Given the description of an element on the screen output the (x, y) to click on. 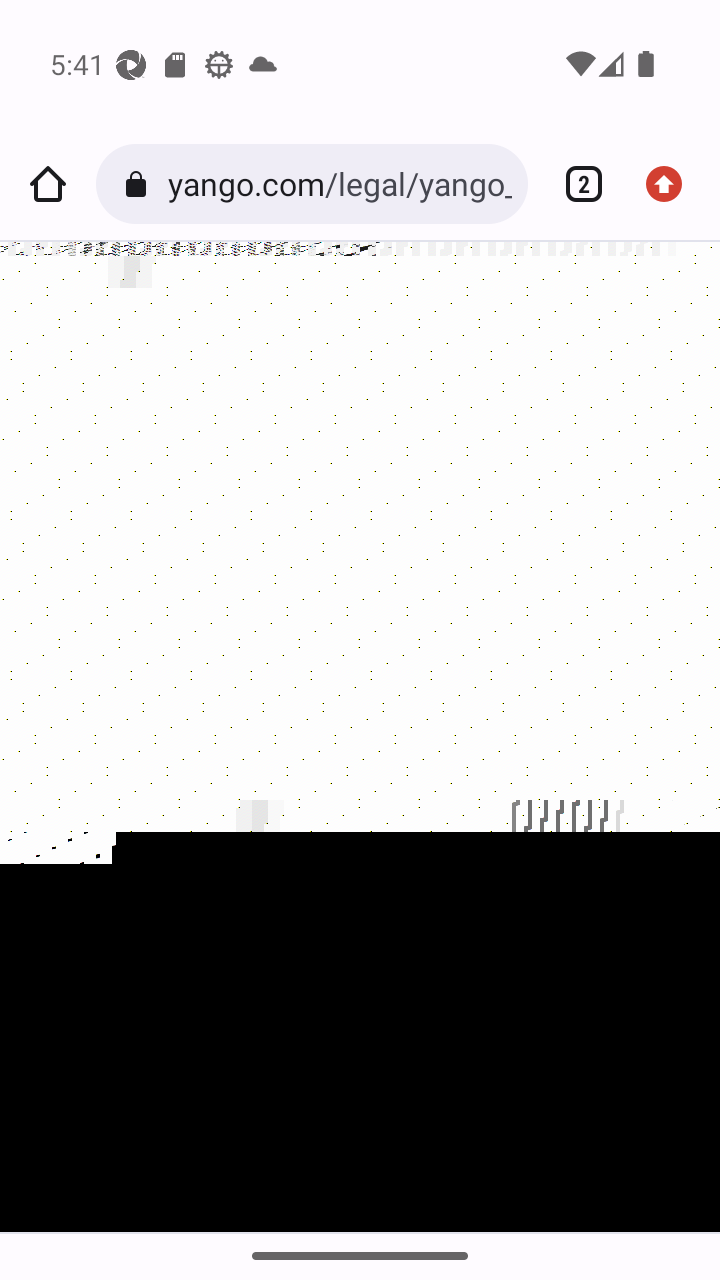
Home (47, 184)
Connection is secure (139, 184)
Switch or close tabs (575, 184)
Update available. More options (672, 184)
